Given the description of an element on the screen output the (x, y) to click on. 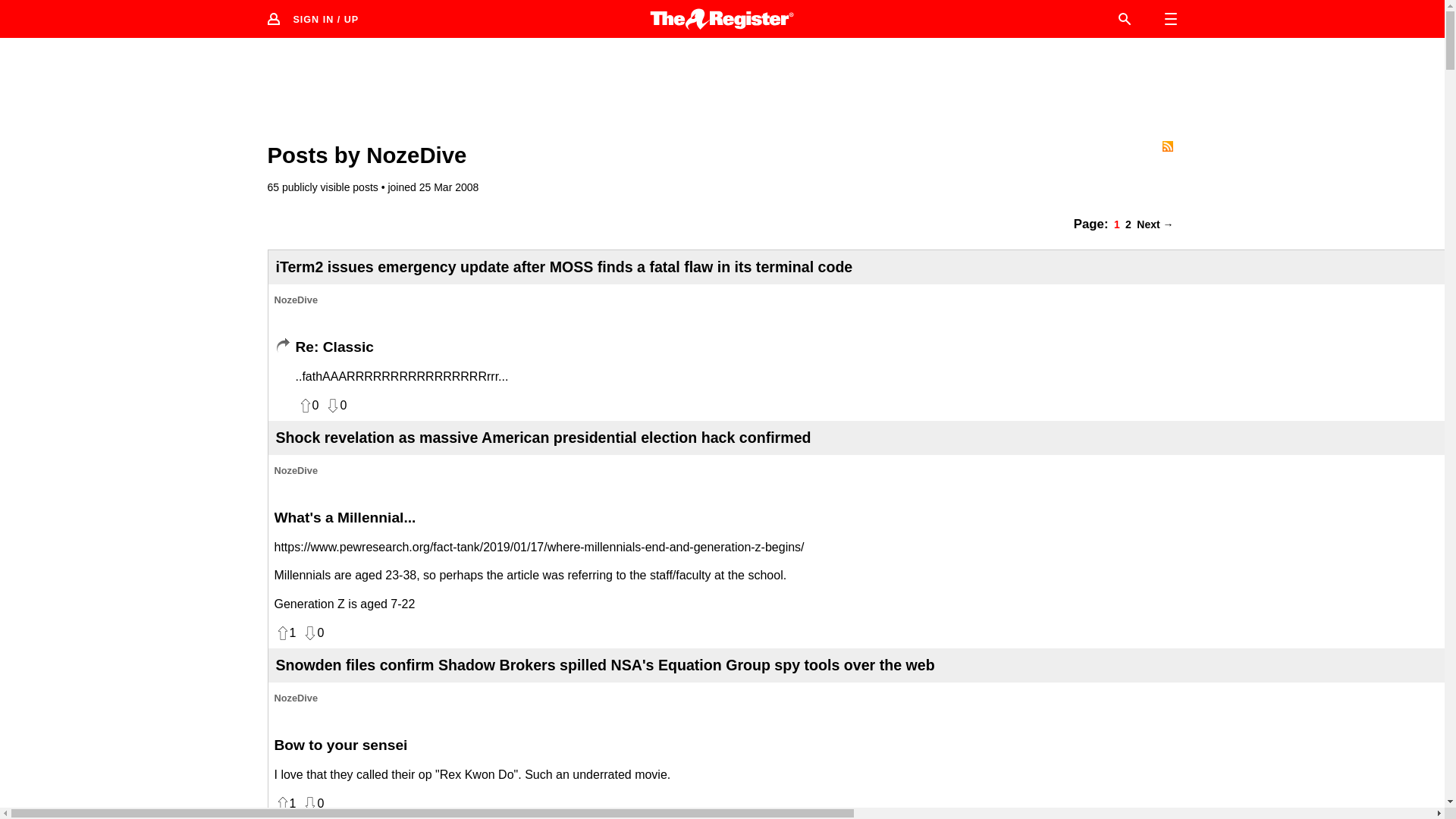
Like this post? Vote for it! (286, 803)
Like this post? Vote for it! (307, 405)
Like this post? Vote for it! (286, 632)
Dislike this post? Vote it down! (335, 405)
Feed of new posts by this user (1166, 145)
In reply to (282, 345)
Dislike this post? Vote it down! (312, 803)
Dislike this post? Vote it down! (312, 632)
